Given the description of an element on the screen output the (x, y) to click on. 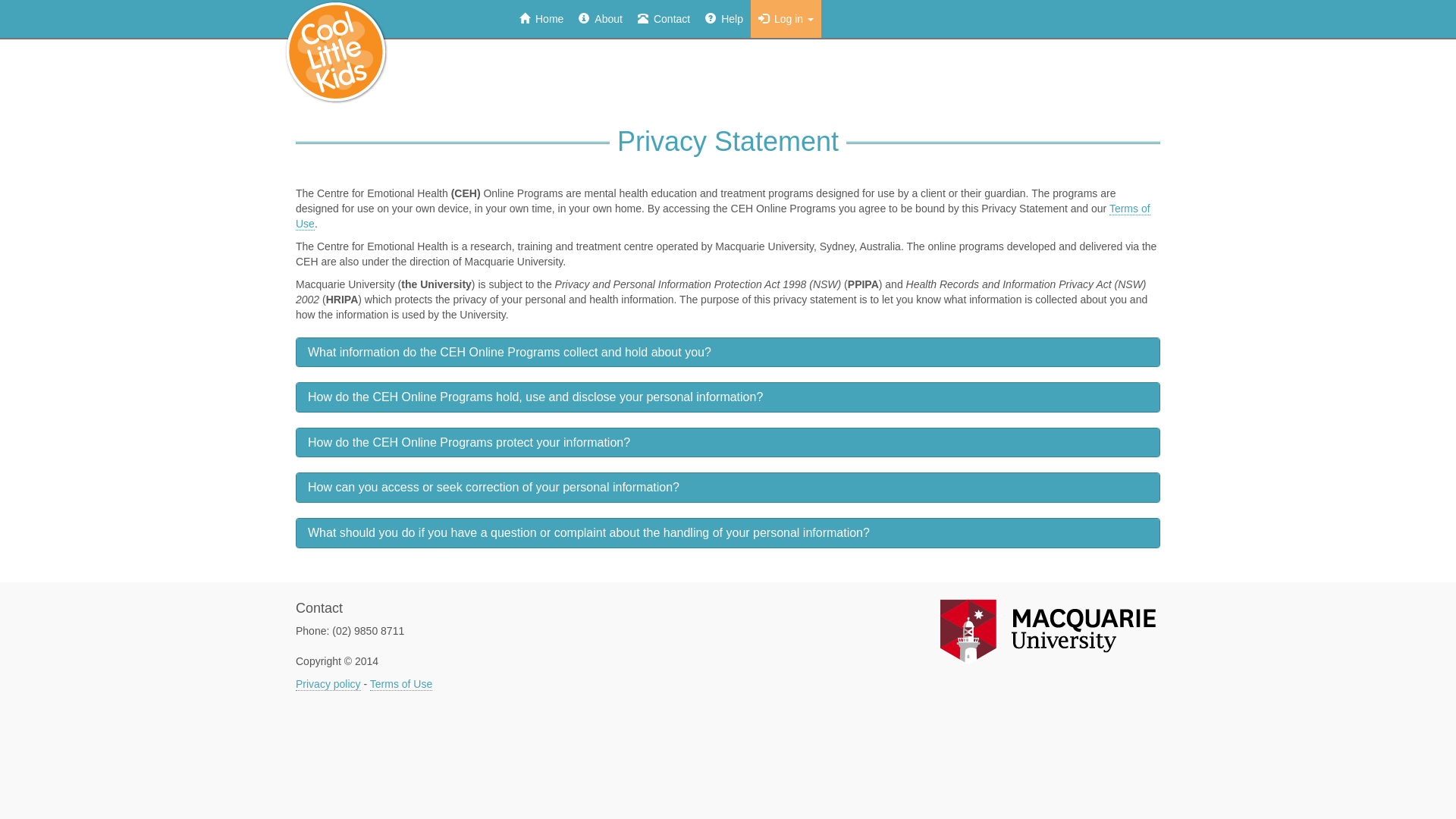
Terms of Use Element type: text (722, 216)
Contact Element type: text (663, 18)
Help Element type: text (723, 18)
About Element type: text (600, 18)
How do the CEH Online Programs protect your information? Element type: text (468, 442)
Home Element type: text (541, 18)
Terms of Use Element type: text (401, 683)
Log in Element type: text (785, 18)
Privacy policy Element type: text (327, 683)
